Given the description of an element on the screen output the (x, y) to click on. 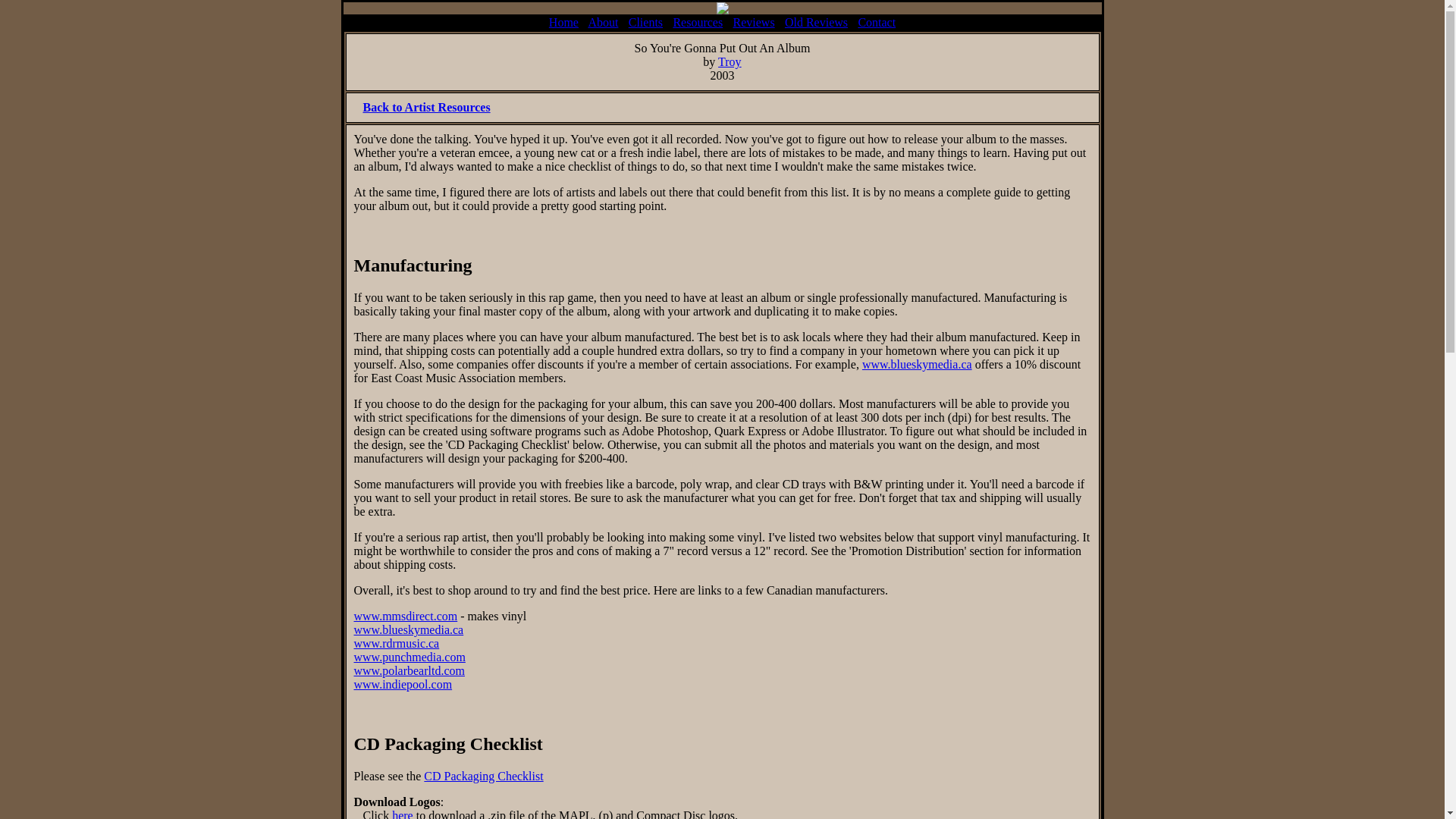
Troy (729, 61)
www.mmsdirect.com (405, 615)
CD Packaging Checklist (483, 775)
www.polarbearltd.com (408, 670)
Home (563, 21)
Clients (645, 21)
About (602, 21)
www.rdrmusic.ca (396, 643)
www.punchmedia.com (408, 656)
Old Reviews (815, 21)
www.blueskymedia.ca (408, 629)
Back to Artist Resources (425, 106)
Contact (876, 21)
Resources (697, 21)
here (402, 814)
